Given the description of an element on the screen output the (x, y) to click on. 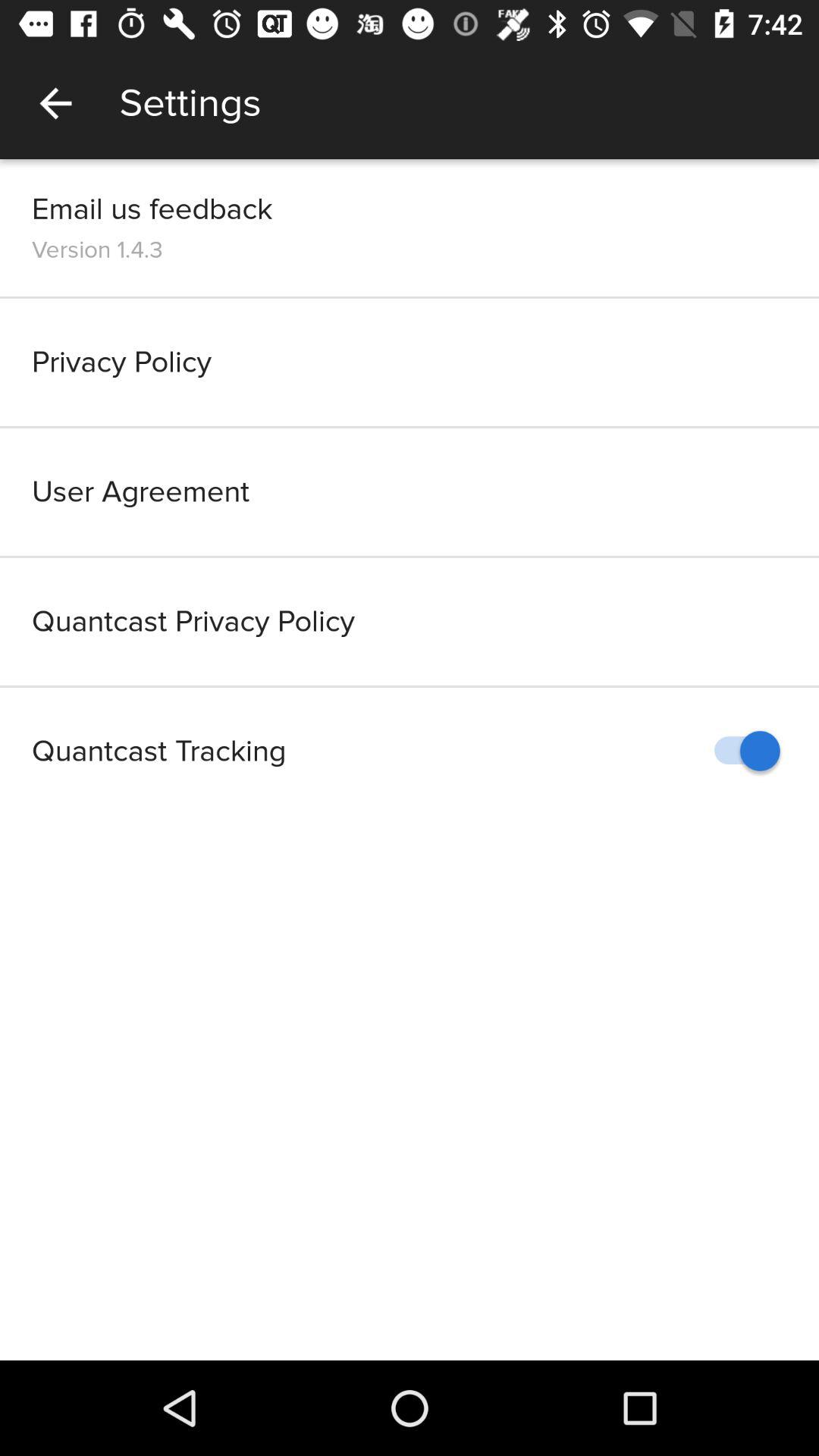
turn off the app next to settings app (55, 103)
